Given the description of an element on the screen output the (x, y) to click on. 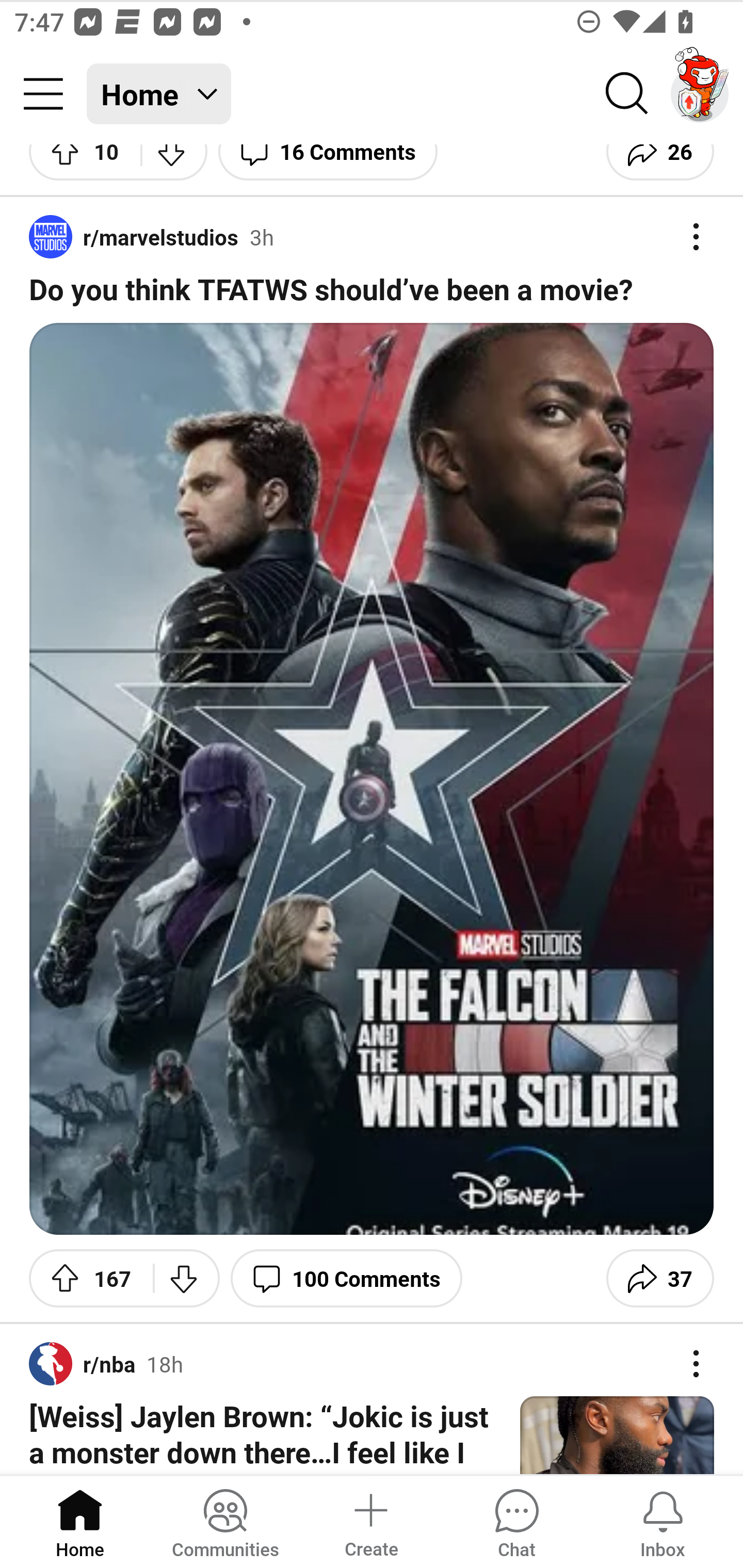
Community menu (43, 93)
Home Home feed (158, 93)
Search (626, 93)
TestAppium002 account (699, 93)
Home (80, 1520)
Communities (225, 1520)
Create a post Create (370, 1520)
Chat (516, 1520)
Inbox (662, 1520)
